Given the description of an element on the screen output the (x, y) to click on. 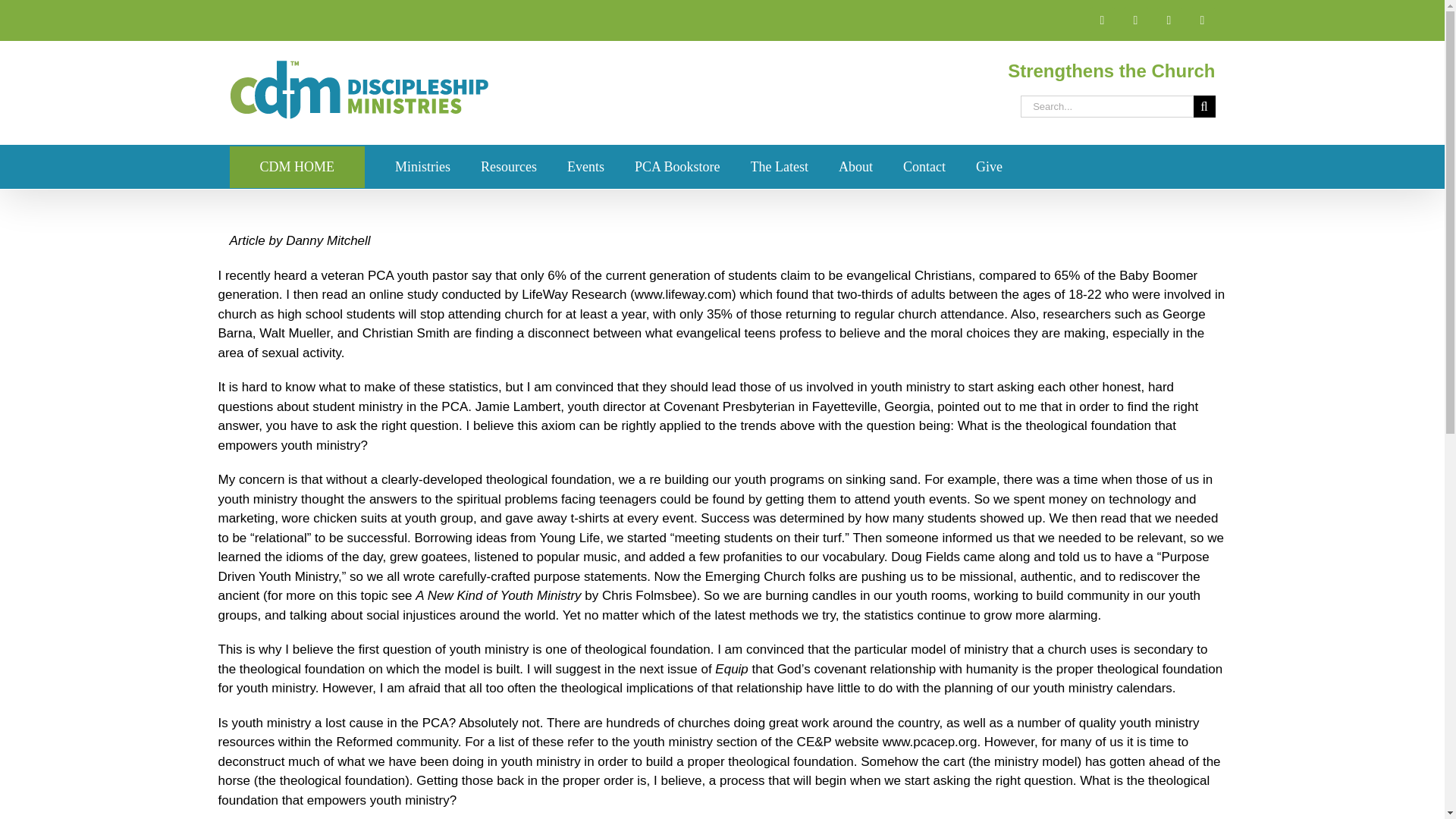
Ministries (421, 166)
X (1135, 20)
Facebook (1102, 20)
Facebook (1102, 20)
Resources (508, 166)
Email (1201, 20)
X (1135, 20)
Instagram (1168, 20)
CDM HOME (296, 166)
Instagram (1168, 20)
